Given the description of an element on the screen output the (x, y) to click on. 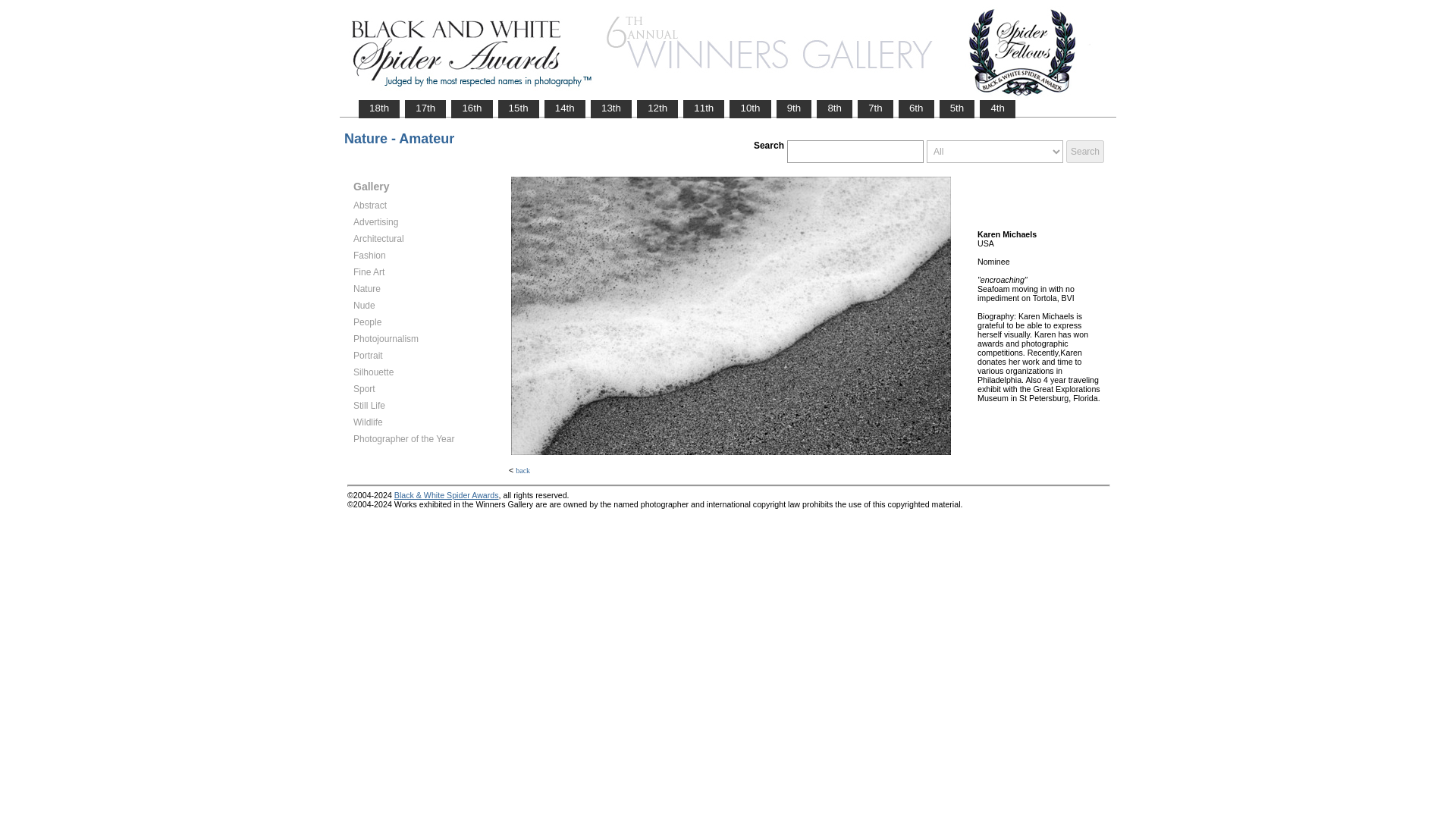
   12th    (657, 107)
   14th    (564, 107)
   7th    (875, 107)
   11th    (703, 107)
   10th    (750, 107)
encroaching (730, 315)
   17th    (425, 107)
   18th    (378, 107)
   16th    (471, 107)
Search (1084, 151)
Search (1084, 151)
   9th    (793, 107)
   6th    (916, 107)
   13th    (610, 107)
   5th    (957, 107)
